Given the description of an element on the screen output the (x, y) to click on. 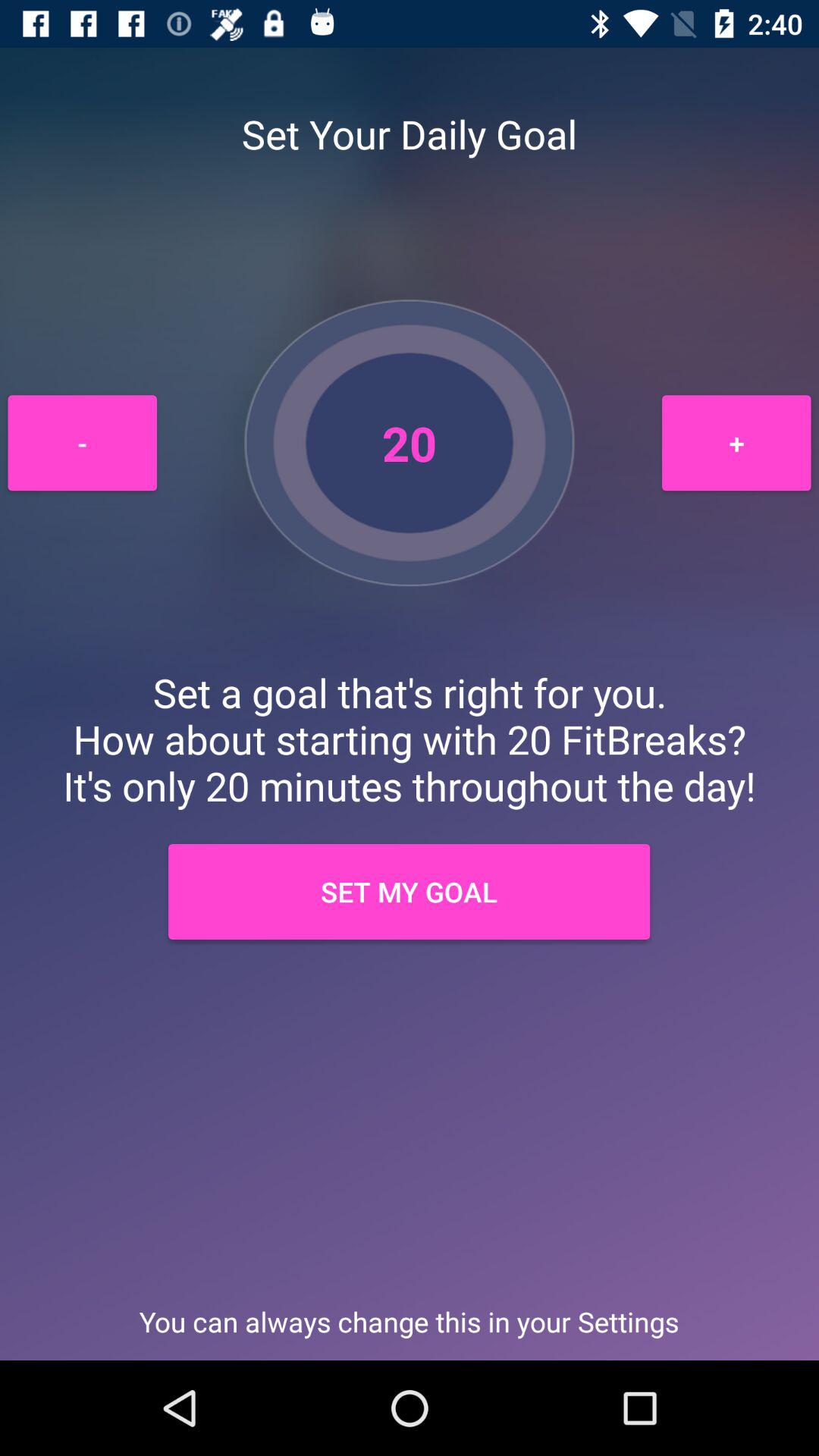
tap item to the left of the 20 icon (82, 442)
